Given the description of an element on the screen output the (x, y) to click on. 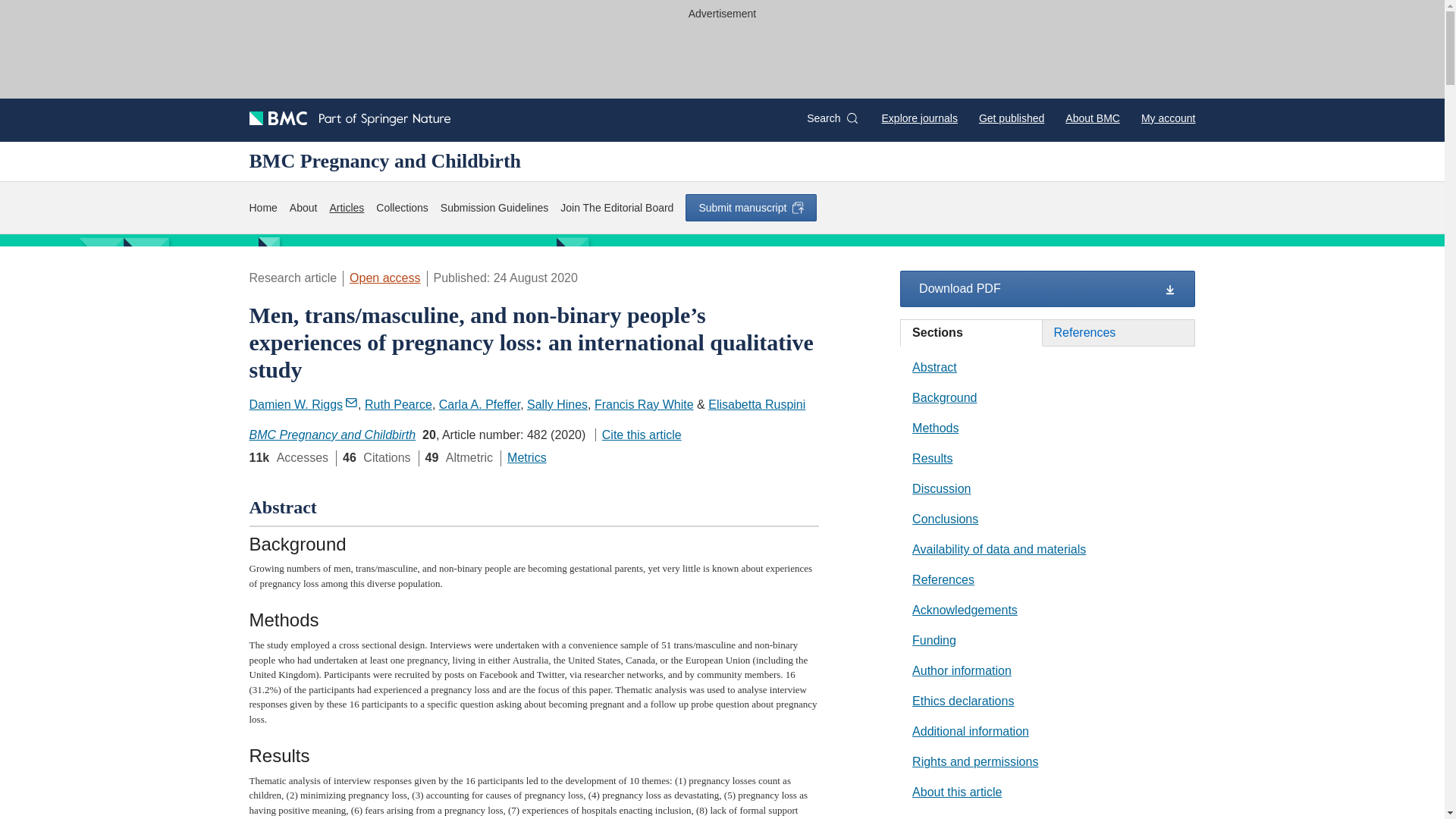
Sally Hines (557, 404)
Get published (1010, 118)
BMC Pregnancy and Childbirth (331, 434)
About BMC (1092, 118)
Open access (384, 277)
BMC Pregnancy and Childbirth (384, 160)
Search (831, 118)
Francis Ray White (644, 404)
Metrics (526, 457)
Join The Editorial Board (616, 208)
My account (1168, 118)
Submit manuscript (750, 207)
About (303, 208)
Home (262, 208)
Articles (346, 208)
